Given the description of an element on the screen output the (x, y) to click on. 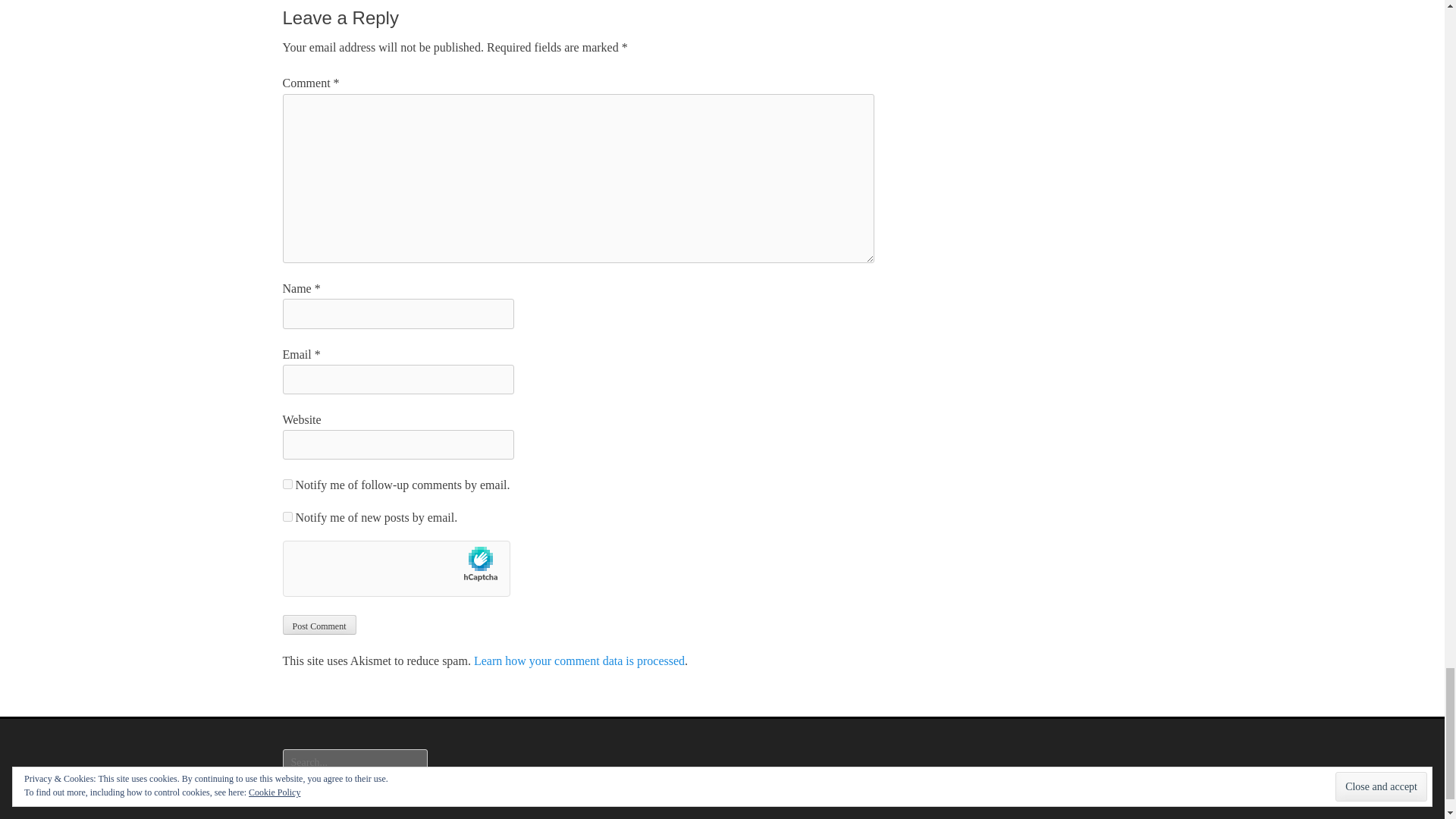
subscribe (287, 516)
subscribe (287, 483)
Search for: (354, 762)
Post Comment (318, 624)
